Given the description of an element on the screen output the (x, y) to click on. 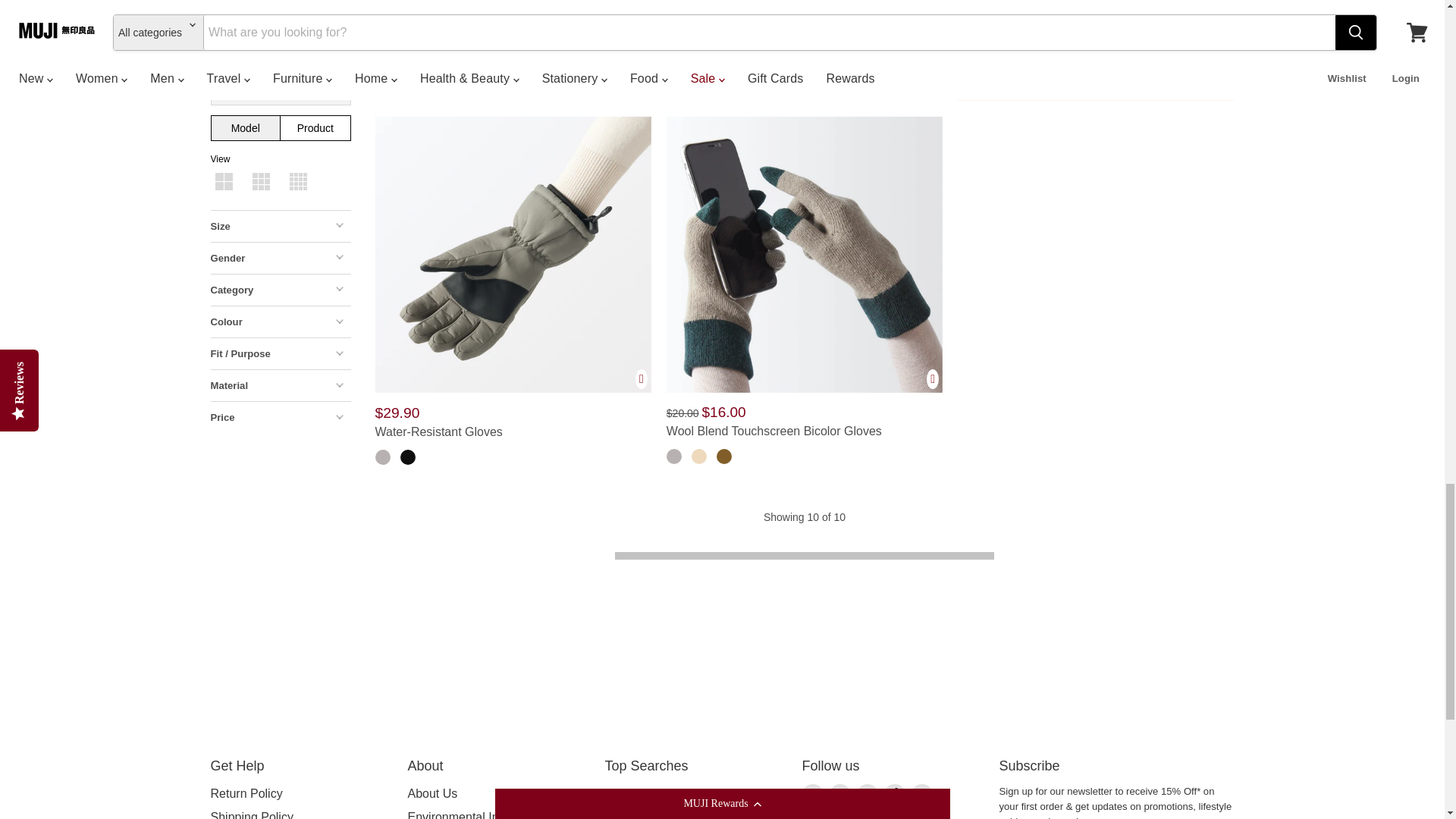
Email (813, 794)
TikTok (894, 794)
Instagram (867, 794)
YouTube (922, 794)
Facebook (839, 794)
